Given the description of an element on the screen output the (x, y) to click on. 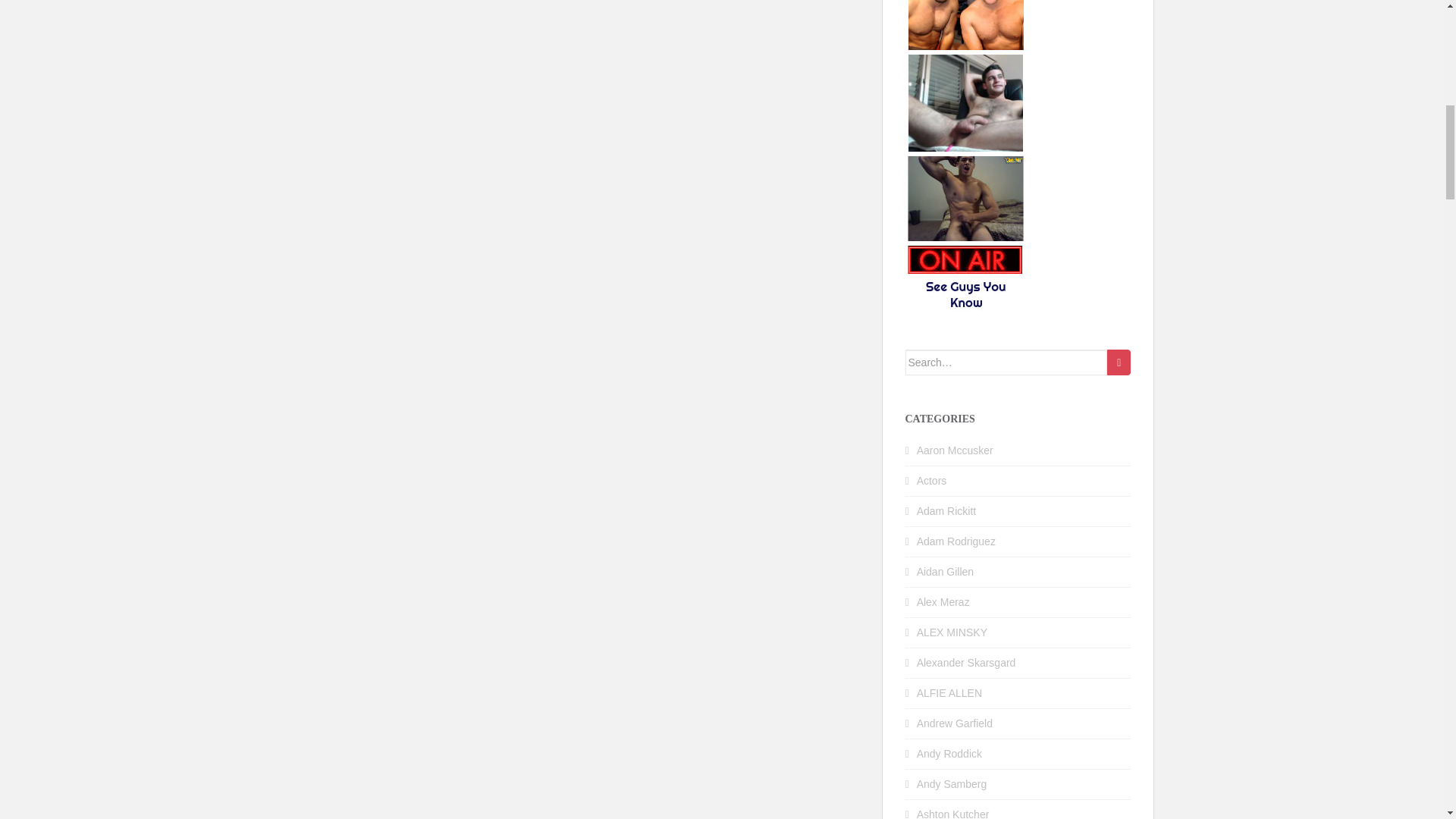
Andy Roddick (949, 753)
ALFIE ALLEN (949, 693)
Search (1118, 362)
Search for: (1006, 362)
Andrew Garfield (954, 723)
ALEX MINSKY (952, 632)
Andy Samberg (952, 784)
Ashton Kutcher (953, 813)
Actors (932, 480)
Alex Meraz (943, 602)
Aidan Gillen (945, 571)
Aaron Mccusker (954, 450)
Alexander Skarsgard (966, 662)
Adam Rodriguez (956, 541)
Adam Rickitt (946, 510)
